Given the description of an element on the screen output the (x, y) to click on. 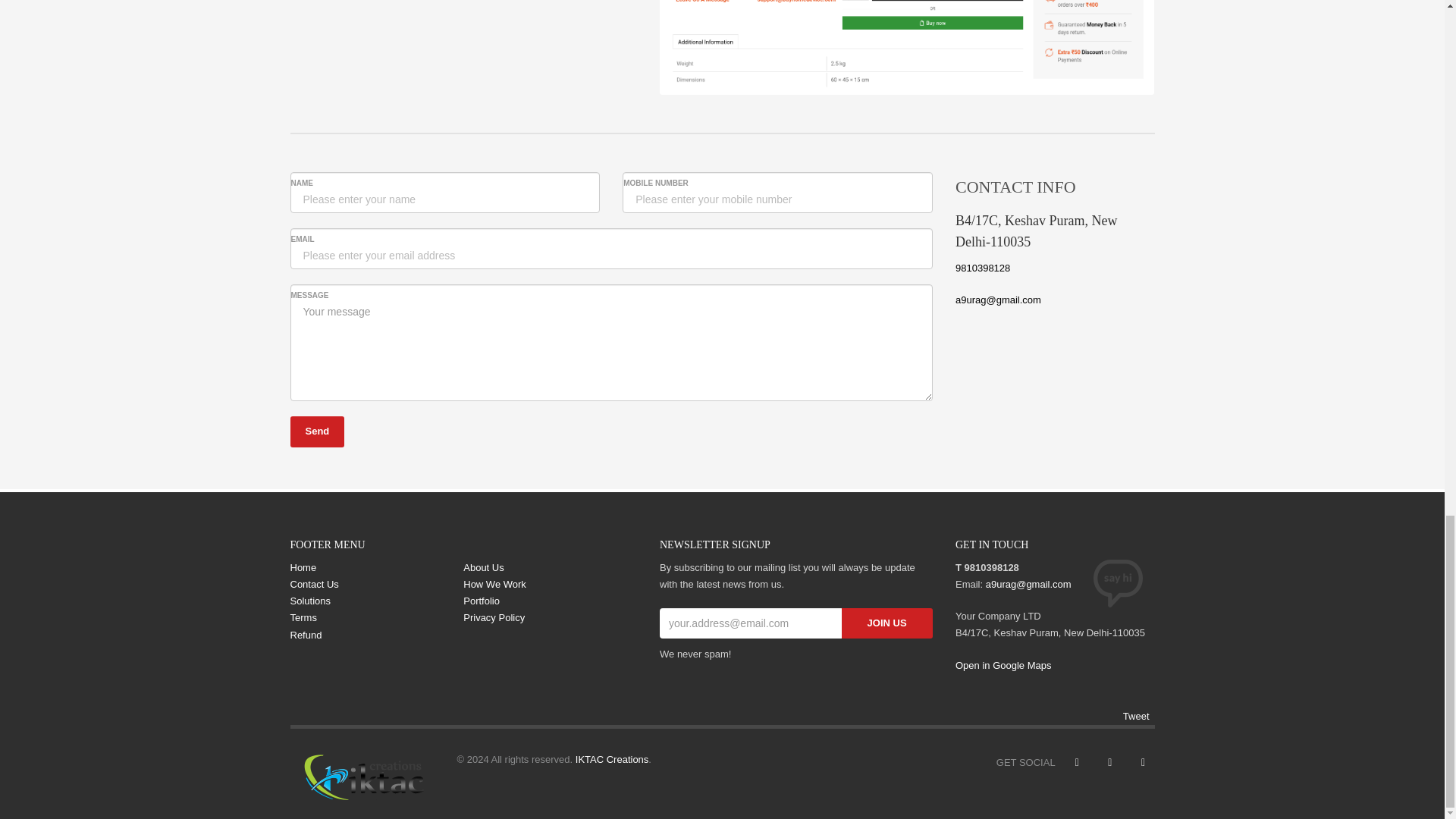
7594c87532b5177cf290be256c5241fc.png (906, 47)
Send (316, 431)
JOIN US (887, 623)
